Given the description of an element on the screen output the (x, y) to click on. 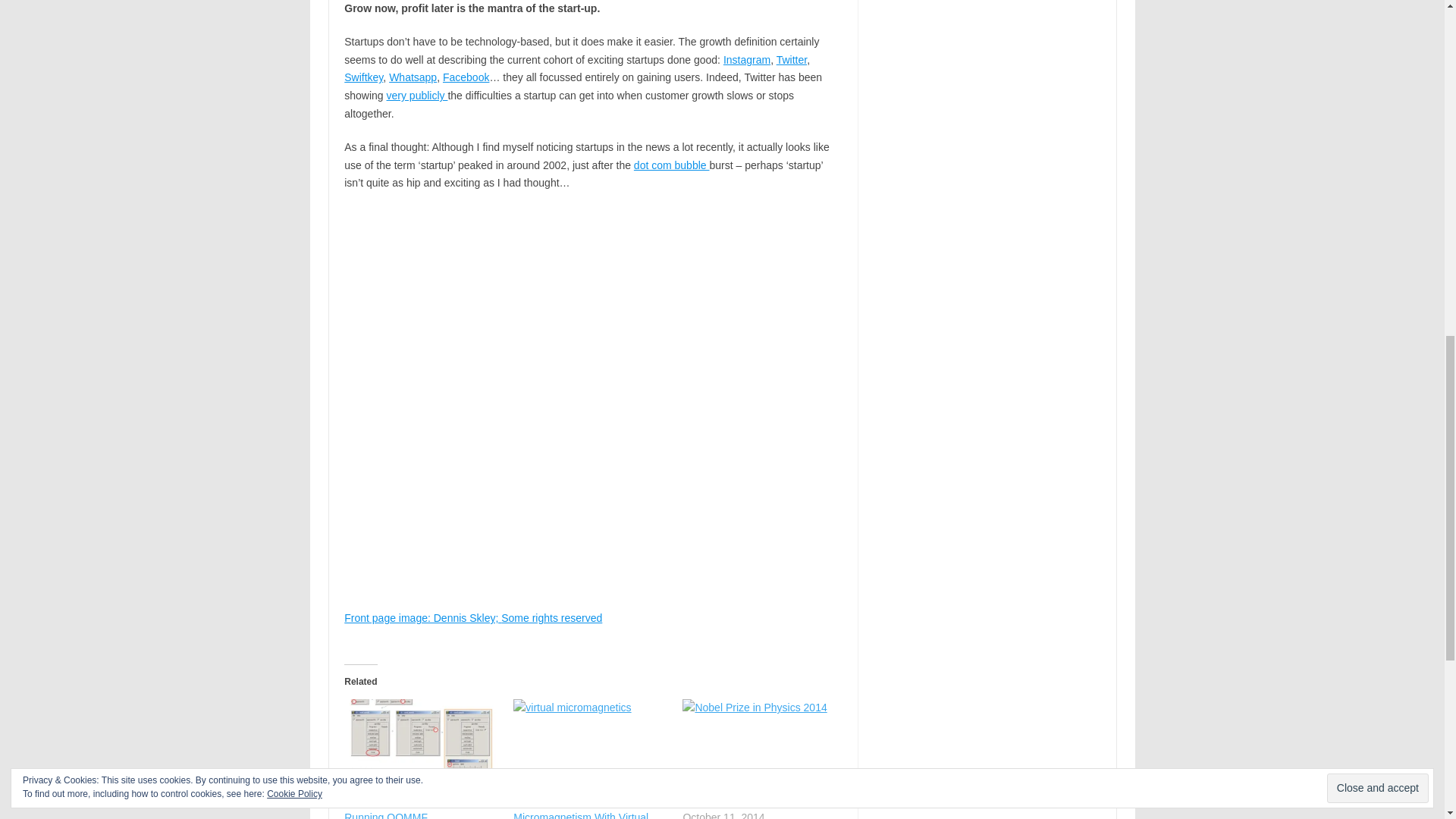
Nobel Prize in Physics 2014 (747, 802)
very publicly (417, 95)
Some rights reserved (551, 617)
Instagram (746, 60)
Go to Dennis Skley's photostream (421, 617)
Whatsapp (412, 77)
Nobel Prize in Physics 2014 (747, 802)
OOMMF Tutorial Part 2: Running OOMMF (420, 743)
OOMMF Tutorial Part 2: Running OOMMF (400, 807)
OOMMF Tutorial Part 2: Running OOMMF (400, 807)
